Given the description of an element on the screen output the (x, y) to click on. 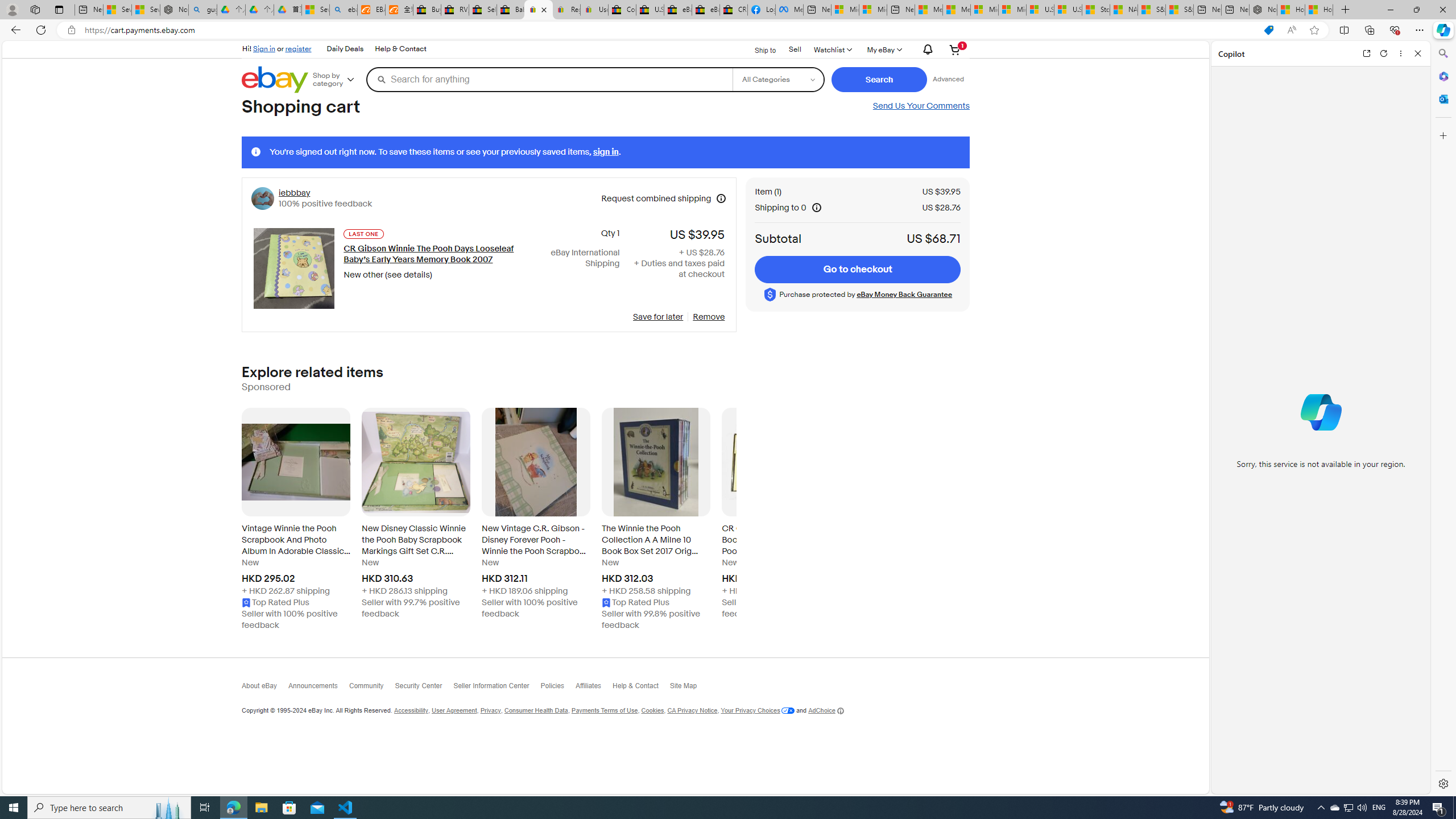
U.S. State Privacy Disclosures - eBay Inc. (649, 9)
Daily Deals (344, 49)
AutomationID: gh-minicart-hover (955, 49)
Help & Contact (640, 688)
eBay shopping cart (538, 9)
Community (370, 688)
eBay Inc. Reports Third Quarter 2023 Results (706, 9)
